Given the description of an element on the screen output the (x, y) to click on. 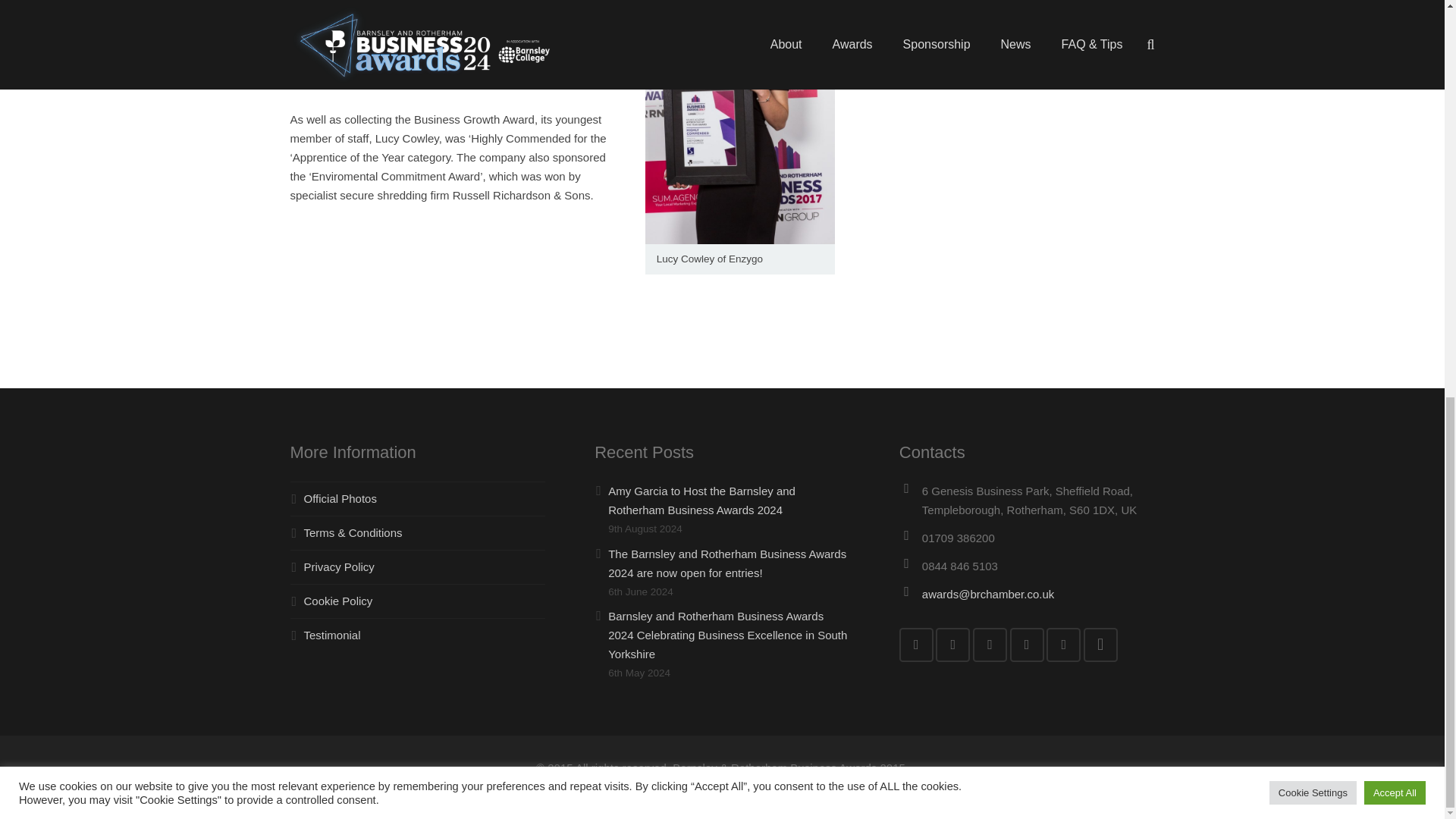
Privacy Policy (338, 566)
Cookie Policy (337, 600)
Privacy Policy (338, 566)
Cookie Policy (337, 600)
Official Photos (338, 498)
Back to top (1413, 74)
Testimonial (330, 634)
